Given the description of an element on the screen output the (x, y) to click on. 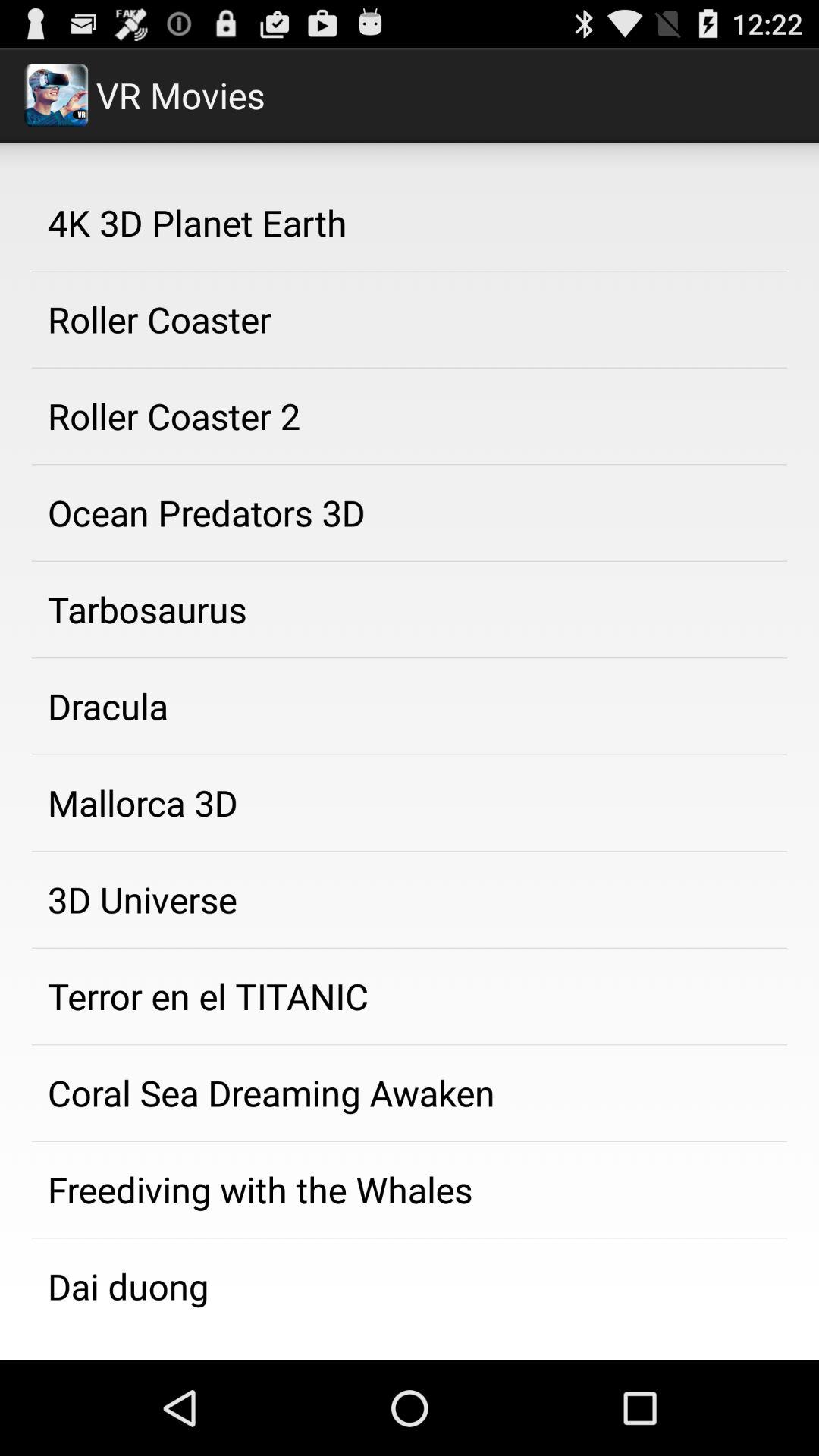
tap the app below the dracula (409, 802)
